Given the description of an element on the screen output the (x, y) to click on. 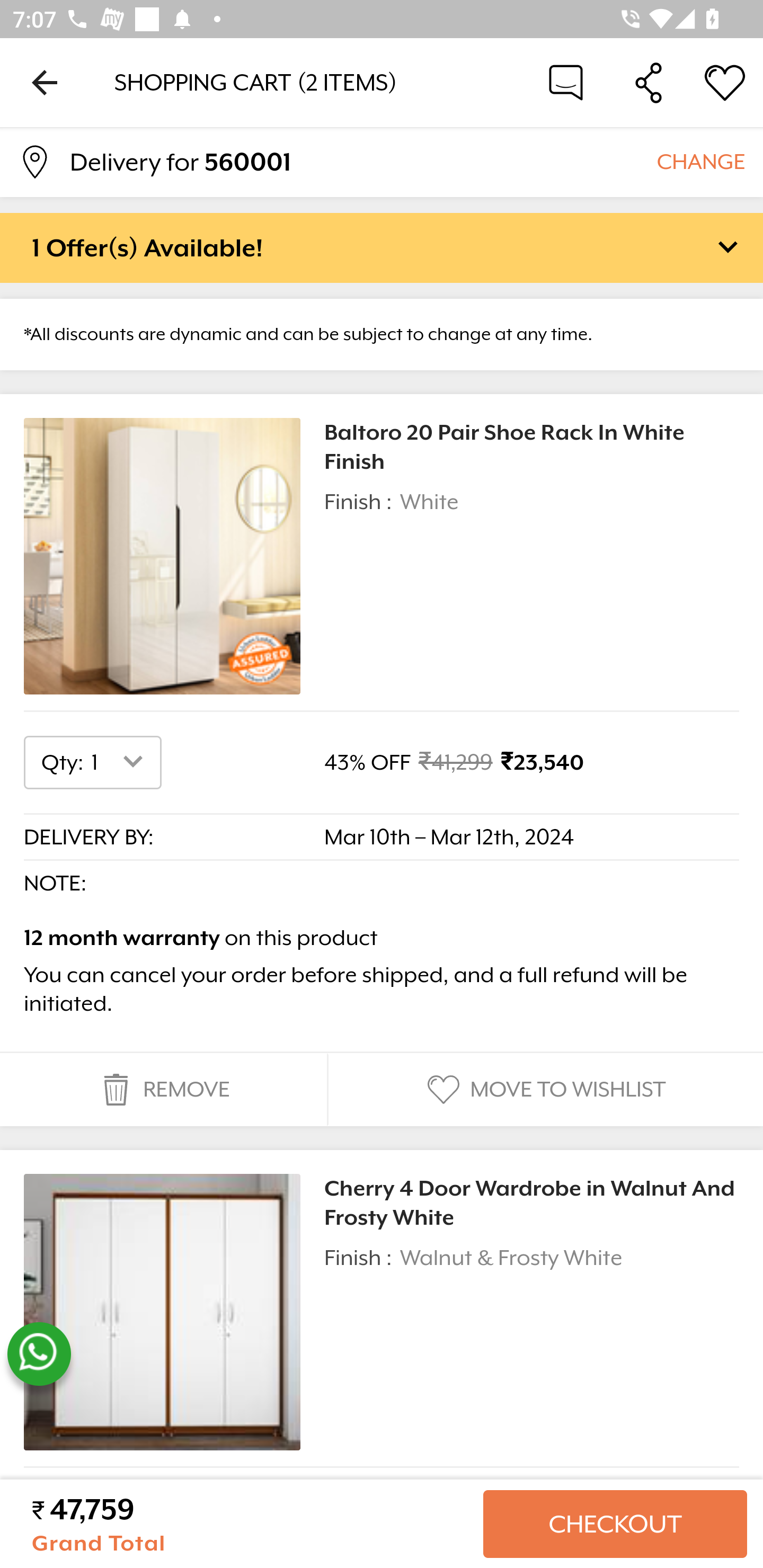
Navigate up (44, 82)
Chat (565, 81)
Share Cart (648, 81)
Wishlist (724, 81)
CHANGE (700, 161)
1 Offer(s) Available! (381, 247)
1 (121, 761)
REMOVE (163, 1089)
MOVE TO WISHLIST (544, 1089)
whatsapp (38, 1353)
₹ 47,759 Grand Total (250, 1523)
CHECKOUT (614, 1523)
